Given the description of an element on the screen output the (x, y) to click on. 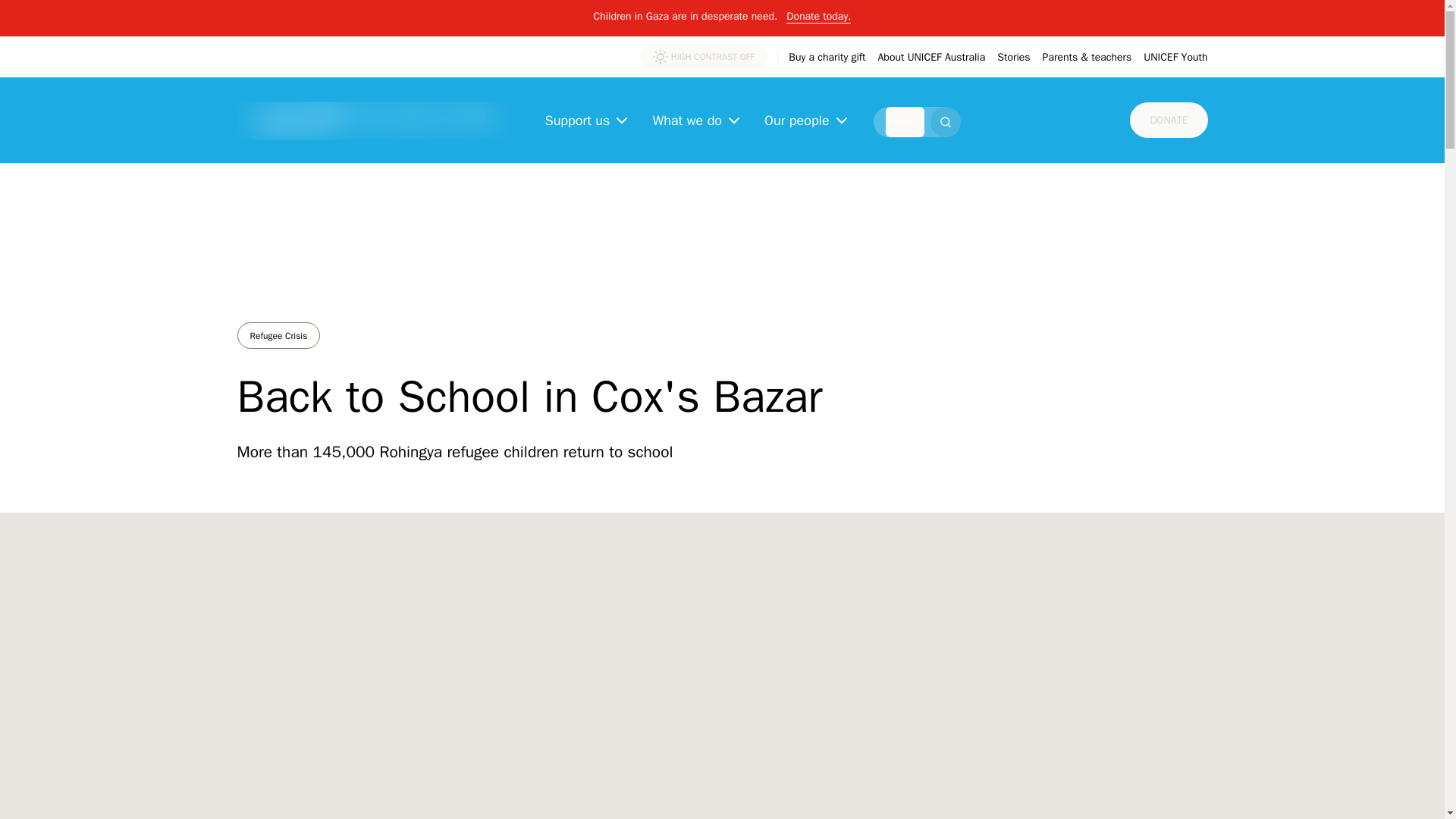
Support us (587, 119)
About UNICEF Australia (931, 57)
Stories (1013, 57)
Submit the search query. (945, 122)
Donate today. (818, 12)
What we do (697, 119)
Buy a charity gift (826, 57)
HIGH CONTRAST OFF (703, 56)
UNICEF Youth (1174, 57)
